Given the description of an element on the screen output the (x, y) to click on. 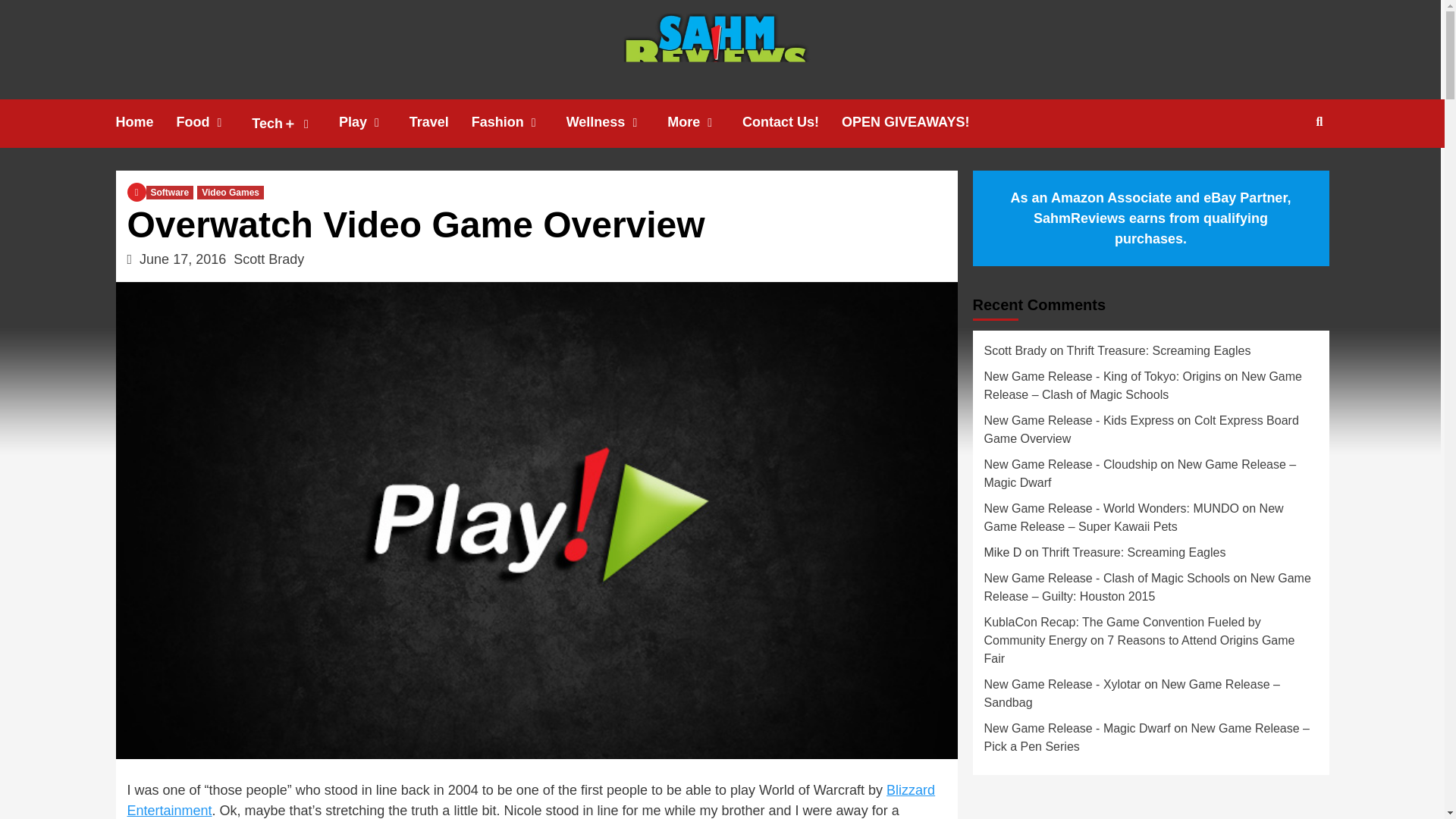
Wellness (617, 122)
Home (145, 122)
Food (213, 122)
Fashion (518, 122)
Travel (440, 122)
More (704, 122)
Play (374, 122)
